Given the description of an element on the screen output the (x, y) to click on. 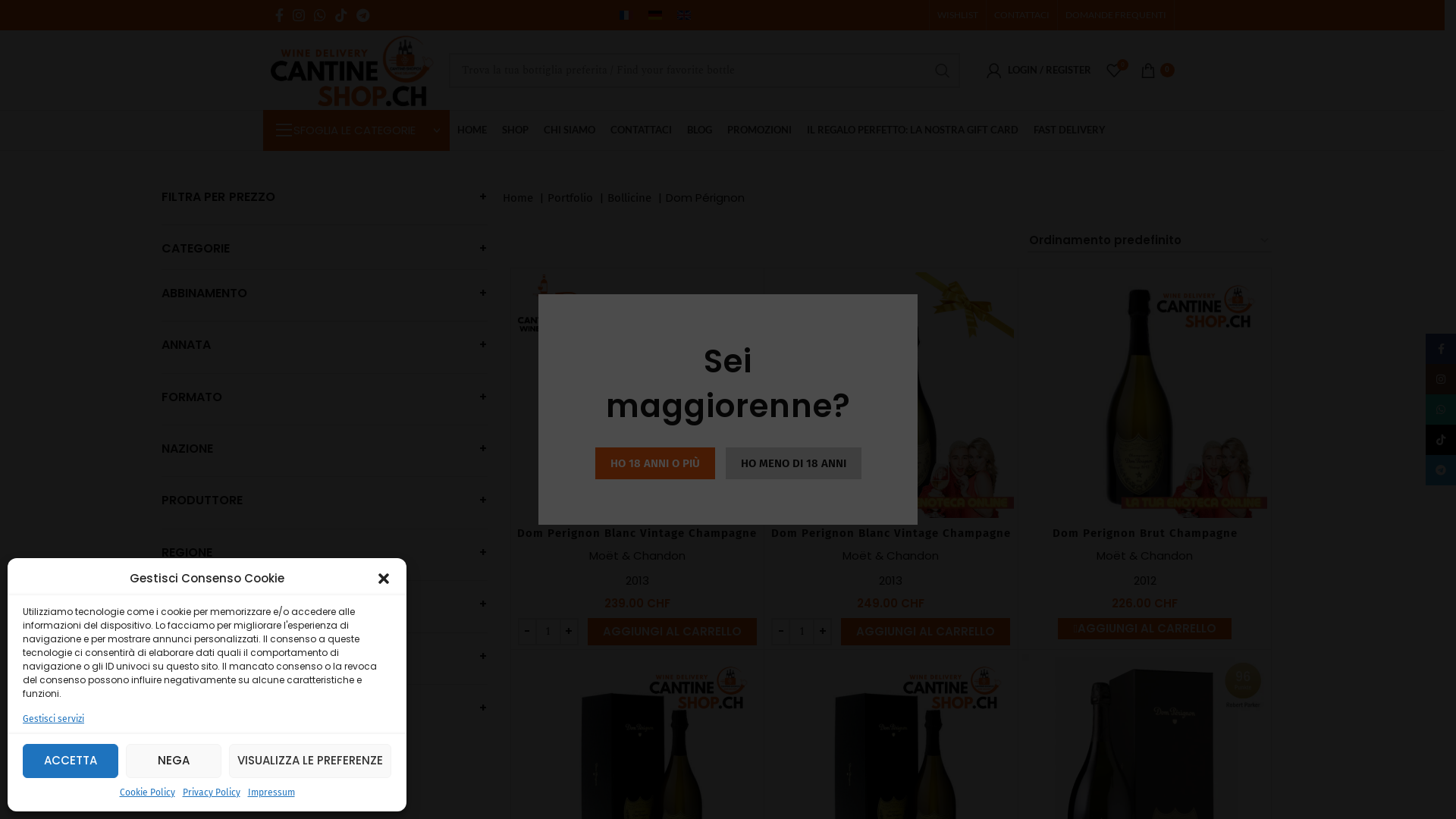
FAST DELIVERY Element type: text (1068, 130)
Dom Perignon Brut Champagne Element type: text (1144, 532)
HO MENO DI 18 ANNI Element type: text (792, 463)
Gestisci servizi Element type: text (53, 719)
IL REGALO PERFETTO: LA NOSTRA GIFT CARD Element type: text (912, 130)
BLOG Element type: text (699, 130)
LOGIN / REGISTER Element type: text (1038, 69)
Home Element type: text (517, 197)
SHOP Element type: text (515, 130)
HOME Element type: text (471, 130)
0 Element type: text (1157, 69)
ACCETTA Element type: text (70, 760)
Search for products Element type: hover (704, 70)
VISUALIZZA LE PREFERENZE Element type: text (310, 760)
Log in Element type: text (965, 319)
Portfolio Element type: text (570, 197)
DOMANDE FREQUENTI Element type: text (1114, 15)
CONTATTACI Element type: text (640, 130)
CHI SIAMO Element type: text (568, 130)
AGGIUNGI AL CARRELLO Element type: text (925, 631)
CONTATTACI Element type: text (1020, 15)
Dom Perignon Blanc Vintage Champagne 2013 + cofanetto Element type: text (890, 541)
Cookie Policy Element type: text (147, 792)
Impressum Element type: text (270, 792)
WISHLIST Element type: text (957, 15)
Qta Element type: hover (801, 631)
Qta Element type: hover (547, 631)
0 Element type: text (1113, 69)
Dom Perignon Blanc Vintage Champagne 2013 Element type: text (636, 541)
Privacy Policy Element type: text (210, 792)
NEGA Element type: text (173, 760)
PROMOZIONI Element type: text (758, 130)
SEARCH Element type: text (942, 70)
AGGIUNGI AL CARRELLO Element type: text (1143, 628)
Bollicine Element type: text (628, 197)
AGGIUNGI AL CARRELLO Element type: text (671, 631)
